Given the description of an element on the screen output the (x, y) to click on. 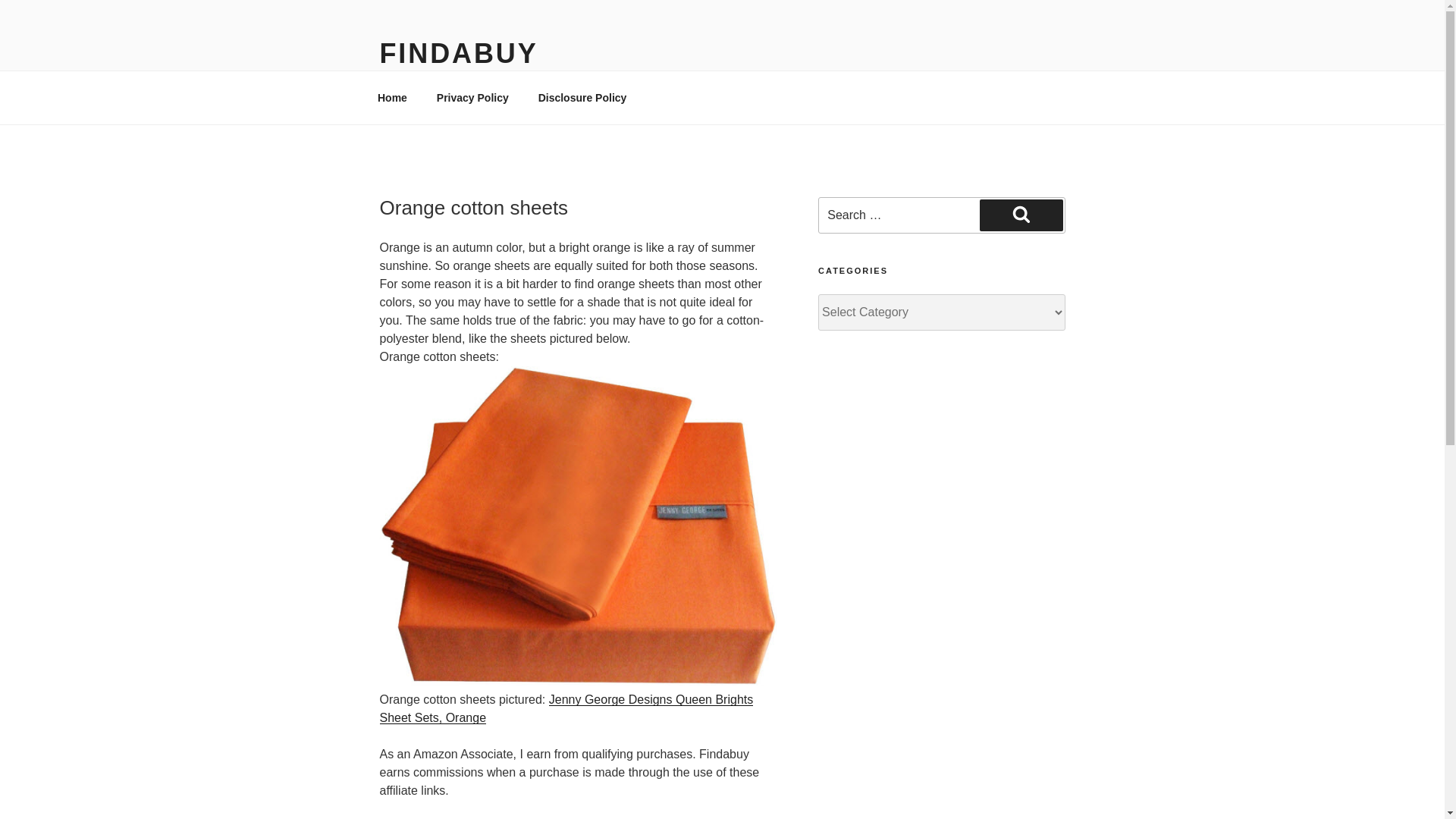
Search (1020, 214)
Jenny George Designs Queen Brights Sheet Sets, Orange (565, 707)
Privacy Policy (472, 97)
Home (392, 97)
Disclosure Policy (582, 97)
Orange cotton sheets (577, 525)
FINDABUY (457, 52)
